Given the description of an element on the screen output the (x, y) to click on. 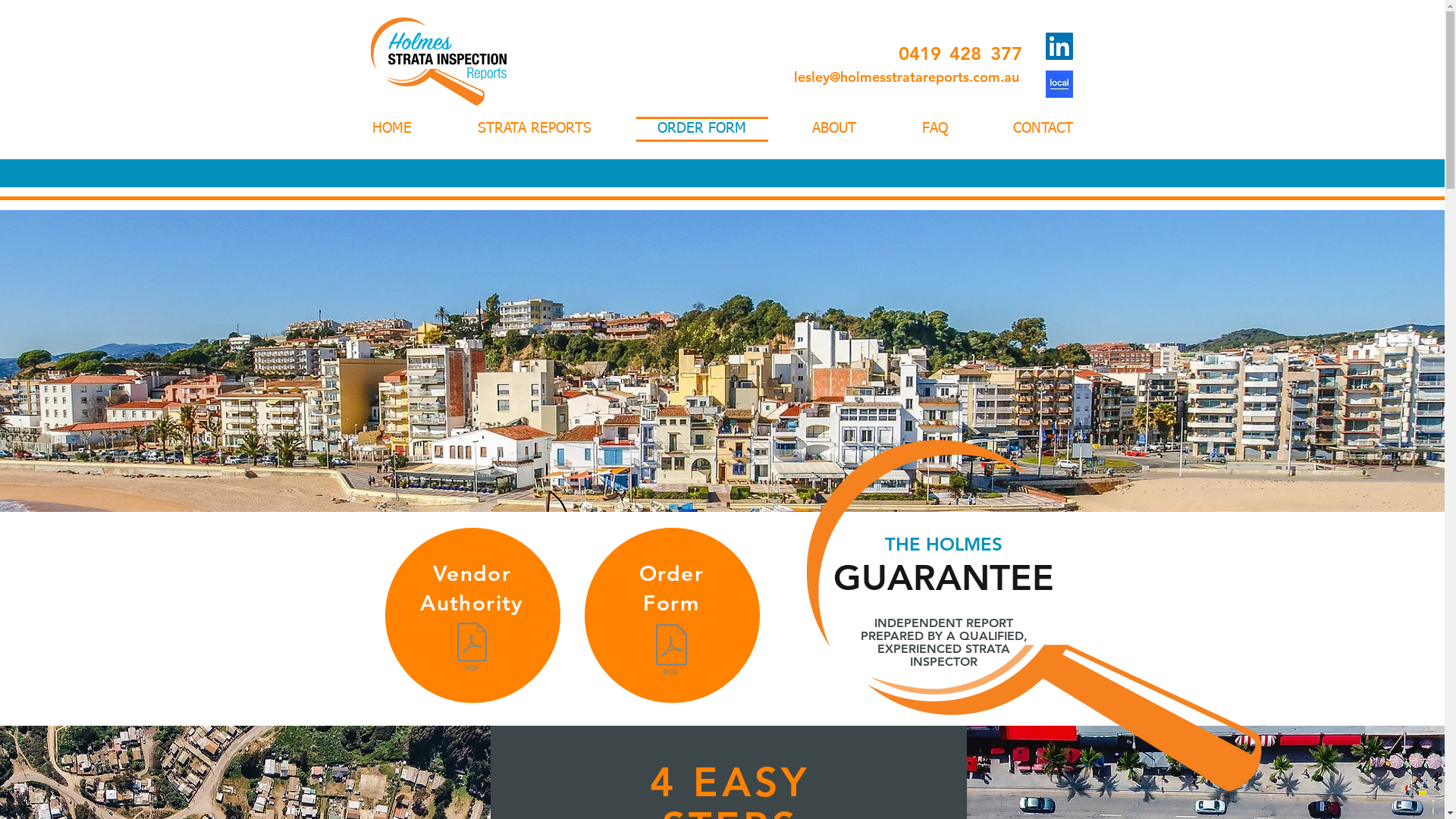
lesley@holmesstratareports.com.au Element type: text (905, 76)
STRATA REPORTS Element type: text (534, 128)
HOLMES ORDER STRATA REPORT FORM 1 JUL 2021.pdf Element type: hover (671, 651)
HOME Element type: text (397, 128)
ABOUT Element type: text (834, 128)
CONTACT Element type: text (1036, 128)
FAQ Element type: text (933, 128)
ORDER FORM Element type: text (701, 128)
HOLMES STRATA AUTHORITY PRECEDENT.pdf Element type: hover (471, 648)
